Given the description of an element on the screen output the (x, y) to click on. 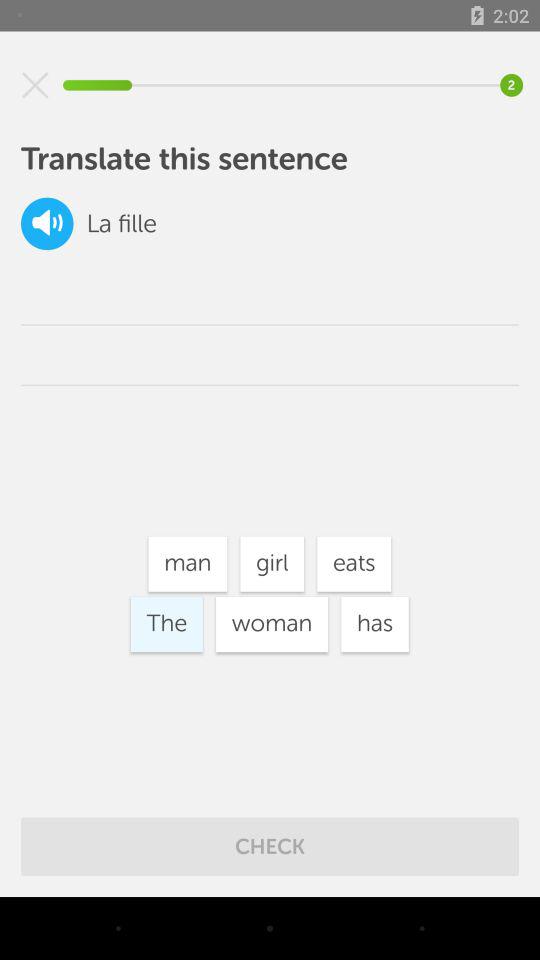
select icon above the woman (272, 563)
